Given the description of an element on the screen output the (x, y) to click on. 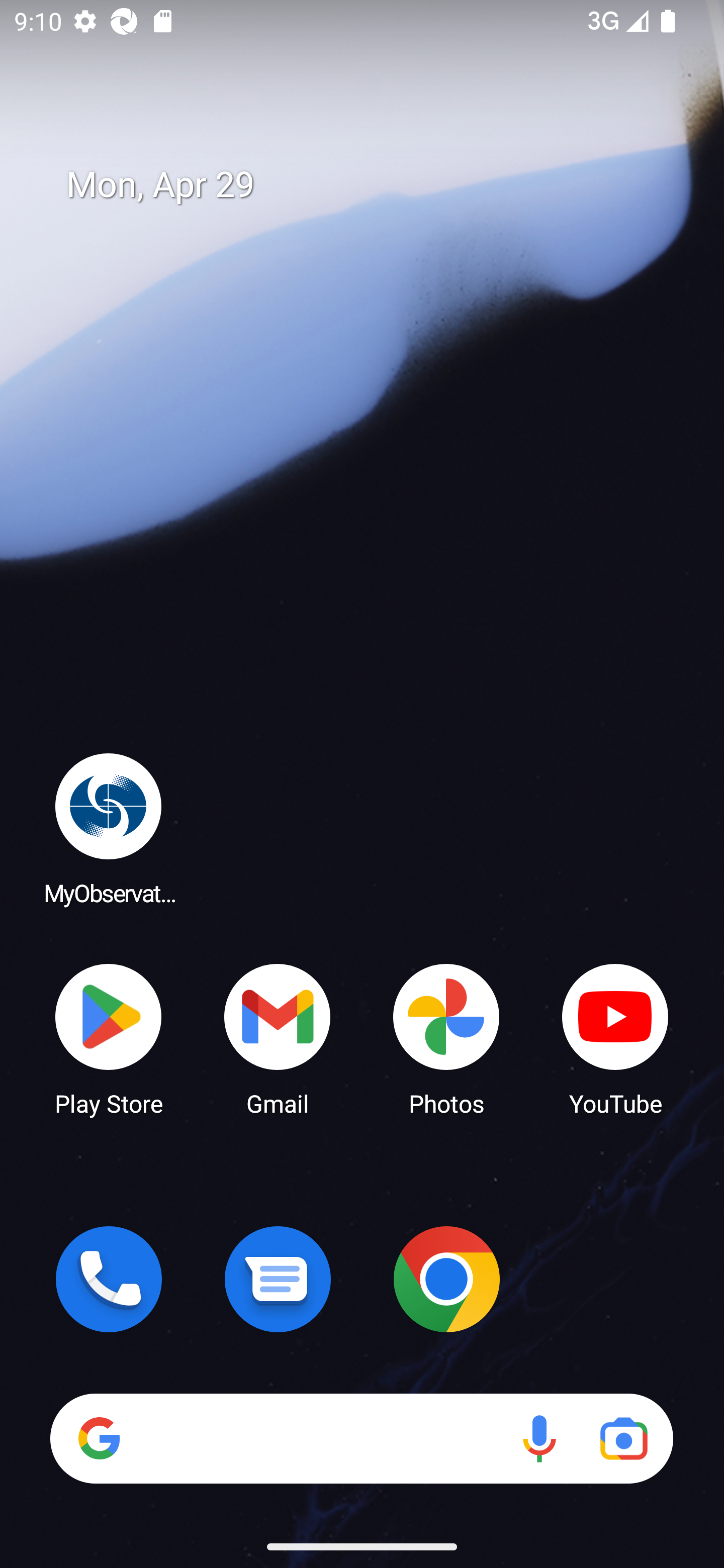
Mon, Apr 29 (375, 184)
MyObservatory (108, 828)
Play Store (108, 1038)
Gmail (277, 1038)
Photos (445, 1038)
YouTube (615, 1038)
Phone (108, 1279)
Messages (277, 1279)
Chrome (446, 1279)
Voice search (539, 1438)
Google Lens (623, 1438)
